Given the description of an element on the screen output the (x, y) to click on. 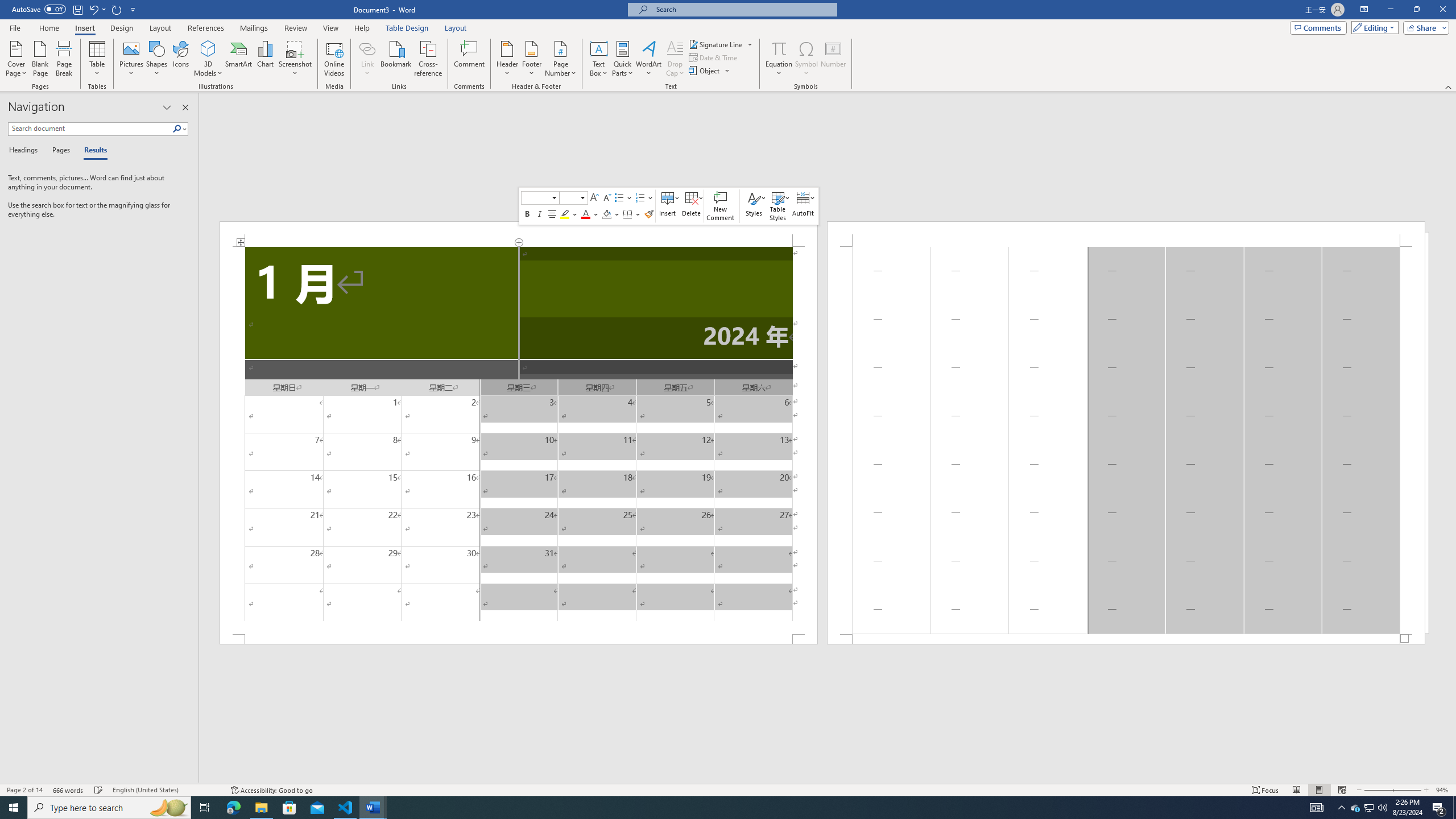
Class: NetUIAnchor (803, 205)
WordArt (648, 58)
Online Videos... (333, 58)
Shading RGB(0, 0, 0) (605, 214)
AutoFit (803, 205)
Font Color Red (585, 214)
Page 1 content (518, 439)
Pictures (131, 58)
Shapes (156, 58)
